Given the description of an element on the screen output the (x, y) to click on. 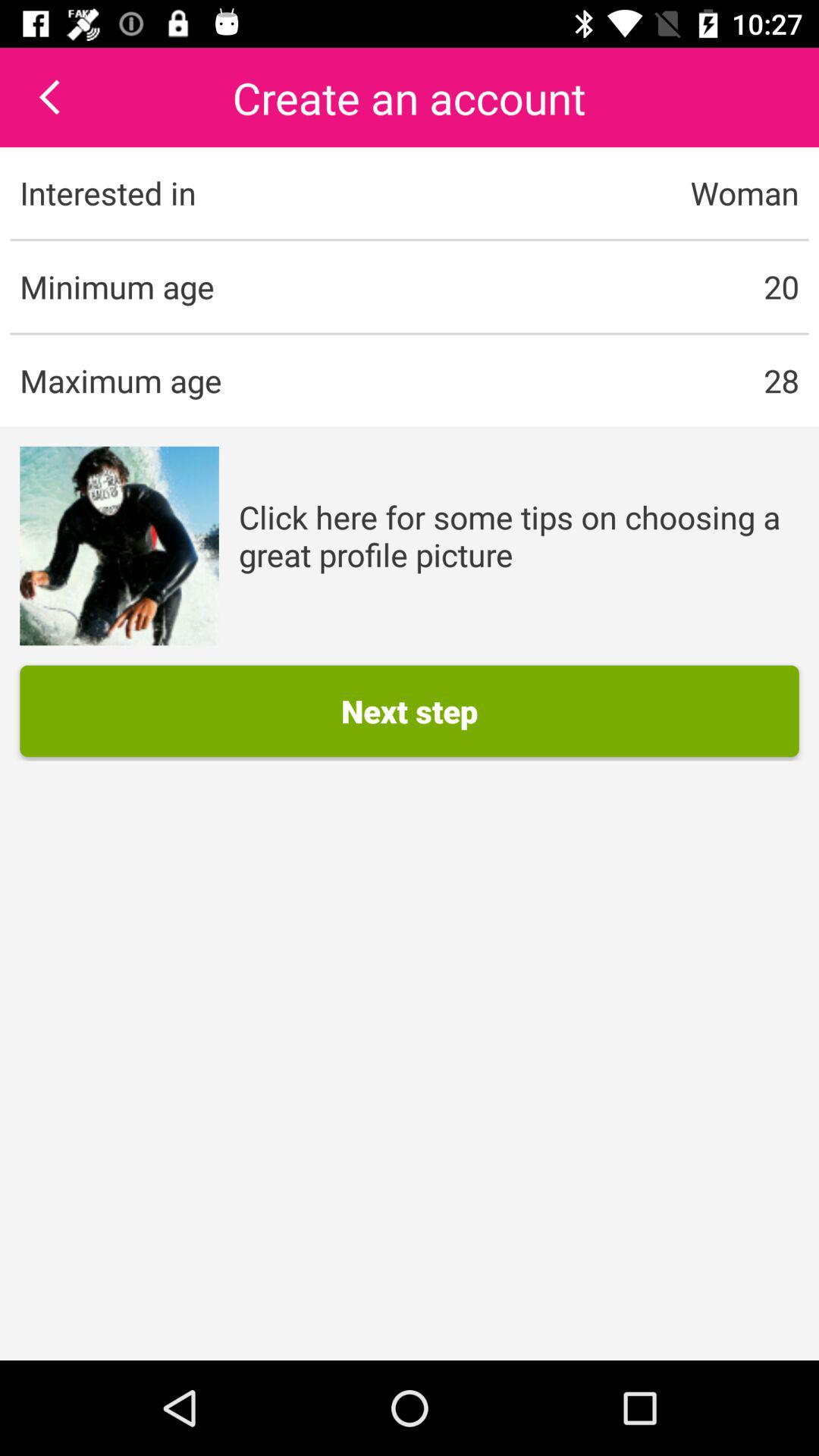
click on the field next step (409, 711)
select the text next to image (519, 535)
click on the image above next step (119, 545)
